Given the description of an element on the screen output the (x, y) to click on. 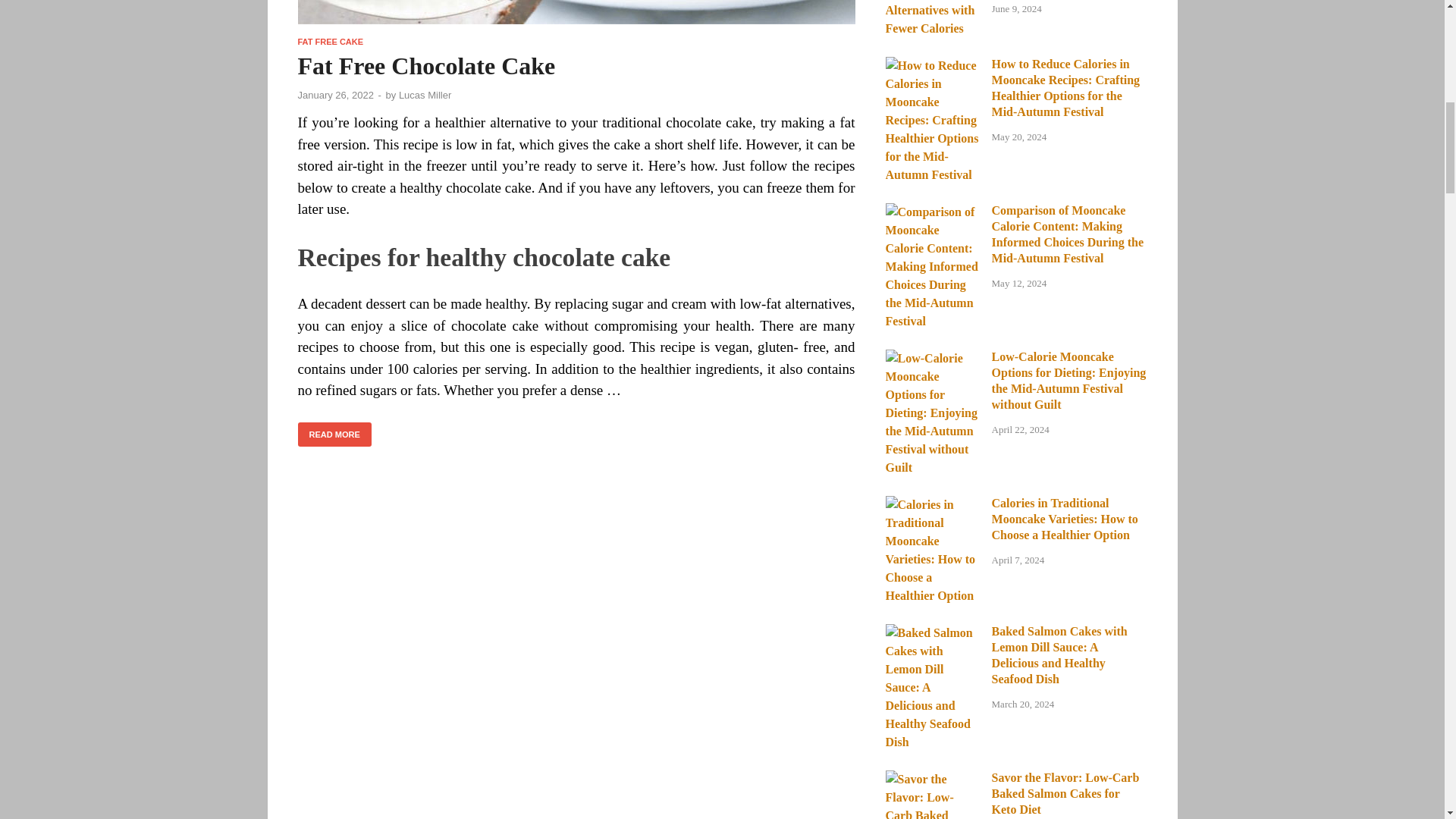
Savor the Flavor: Low-Carb Baked Salmon Cakes for Keto Diet (932, 779)
Fat Free Chocolate Cake (575, 18)
